Given the description of an element on the screen output the (x, y) to click on. 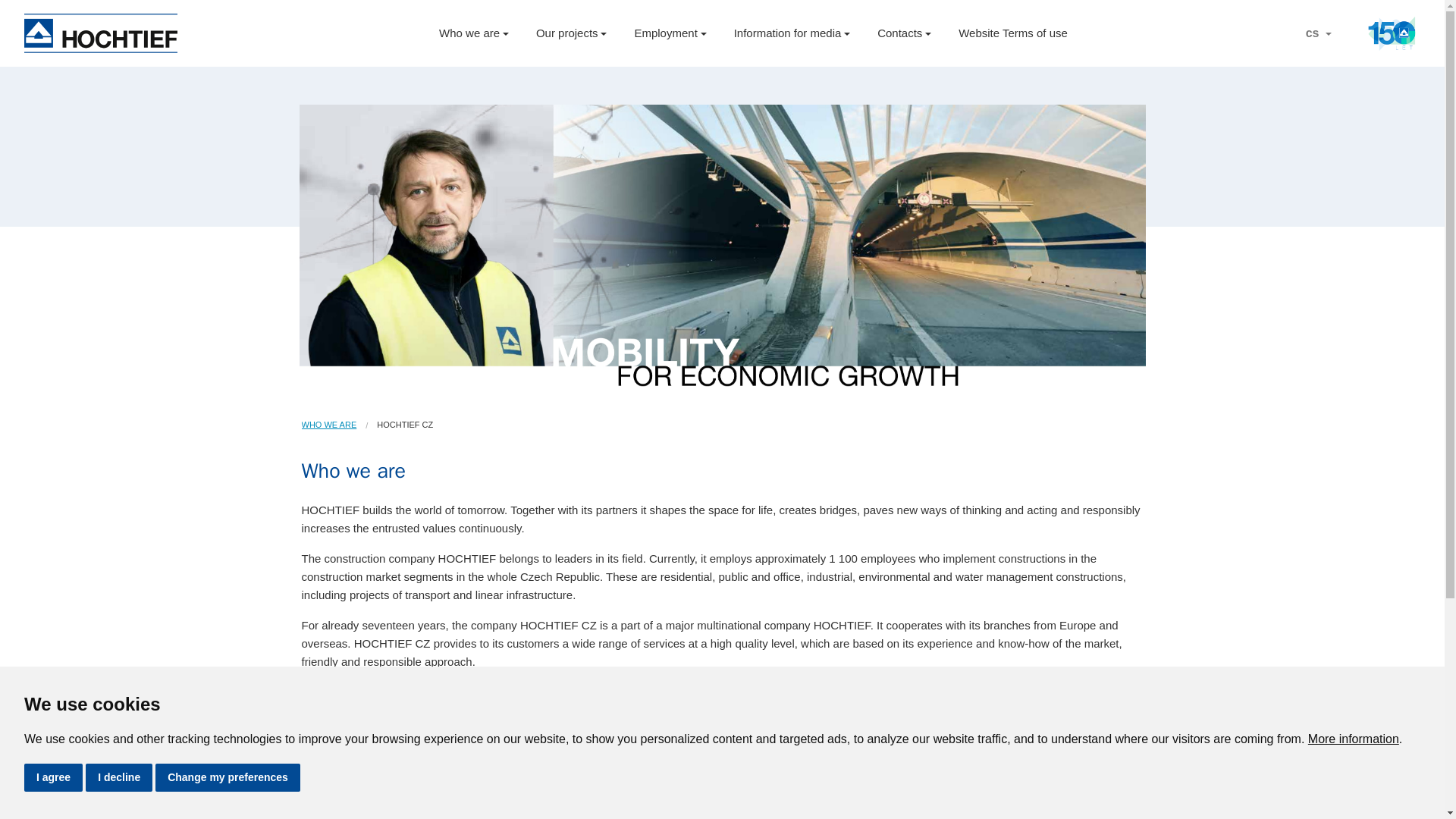
Employment (669, 33)
Website Terms of use (1013, 33)
WHO WE ARE (328, 424)
Who we are (473, 33)
Information for media (792, 33)
Who we are (328, 424)
I decline (118, 777)
Our projects (570, 33)
cs (1318, 33)
Change my preferences (227, 777)
Contacts (903, 33)
More information (1353, 738)
I agree (53, 777)
